Given the description of an element on the screen output the (x, y) to click on. 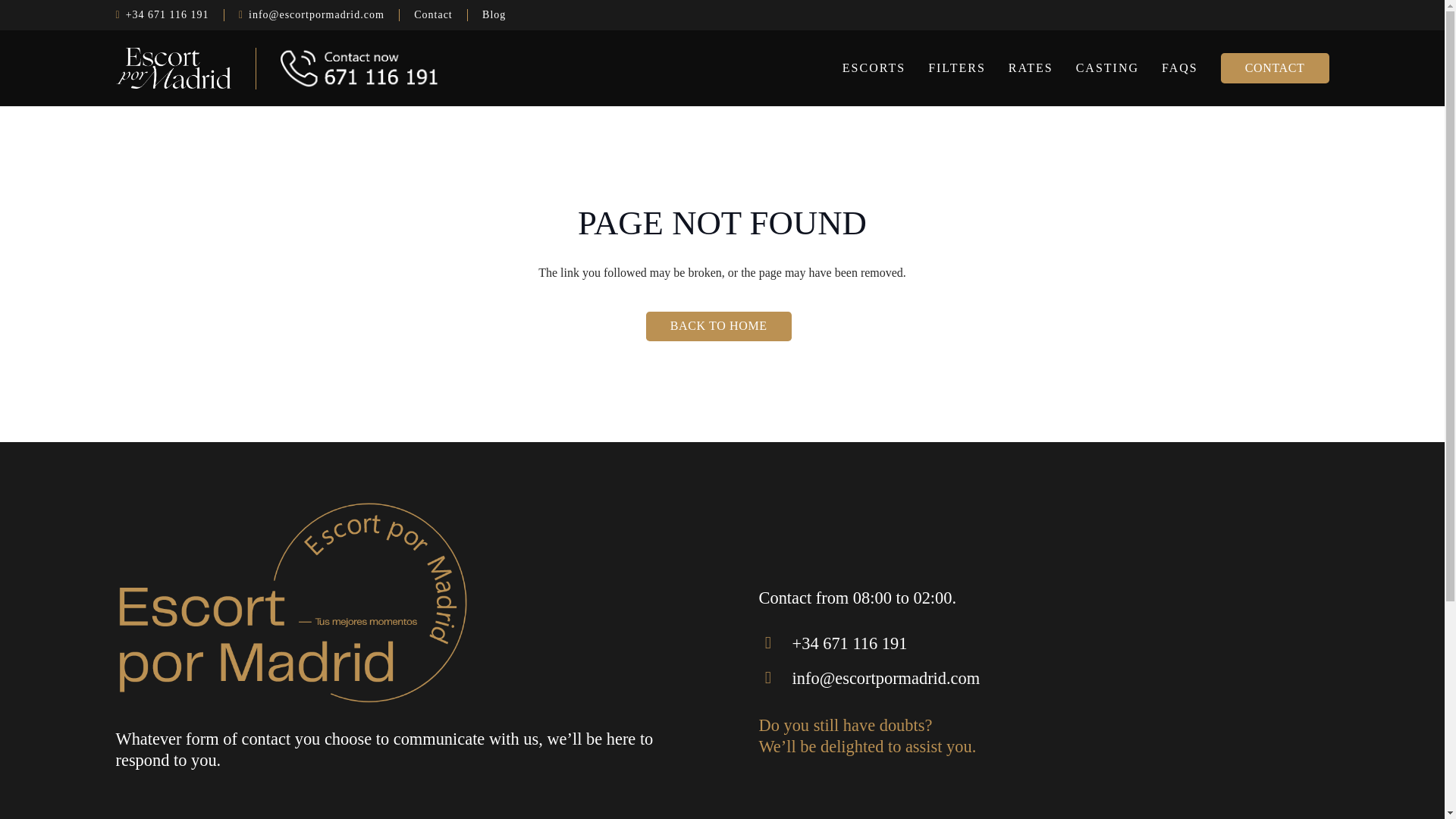
ESCORTS (874, 68)
BACK TO HOME (719, 326)
CONTACT (1275, 68)
Blog (494, 15)
CASTING (1107, 68)
Contact (432, 15)
FILTERS (957, 68)
FAQS (1179, 68)
RATES (1030, 68)
